Given the description of an element on the screen output the (x, y) to click on. 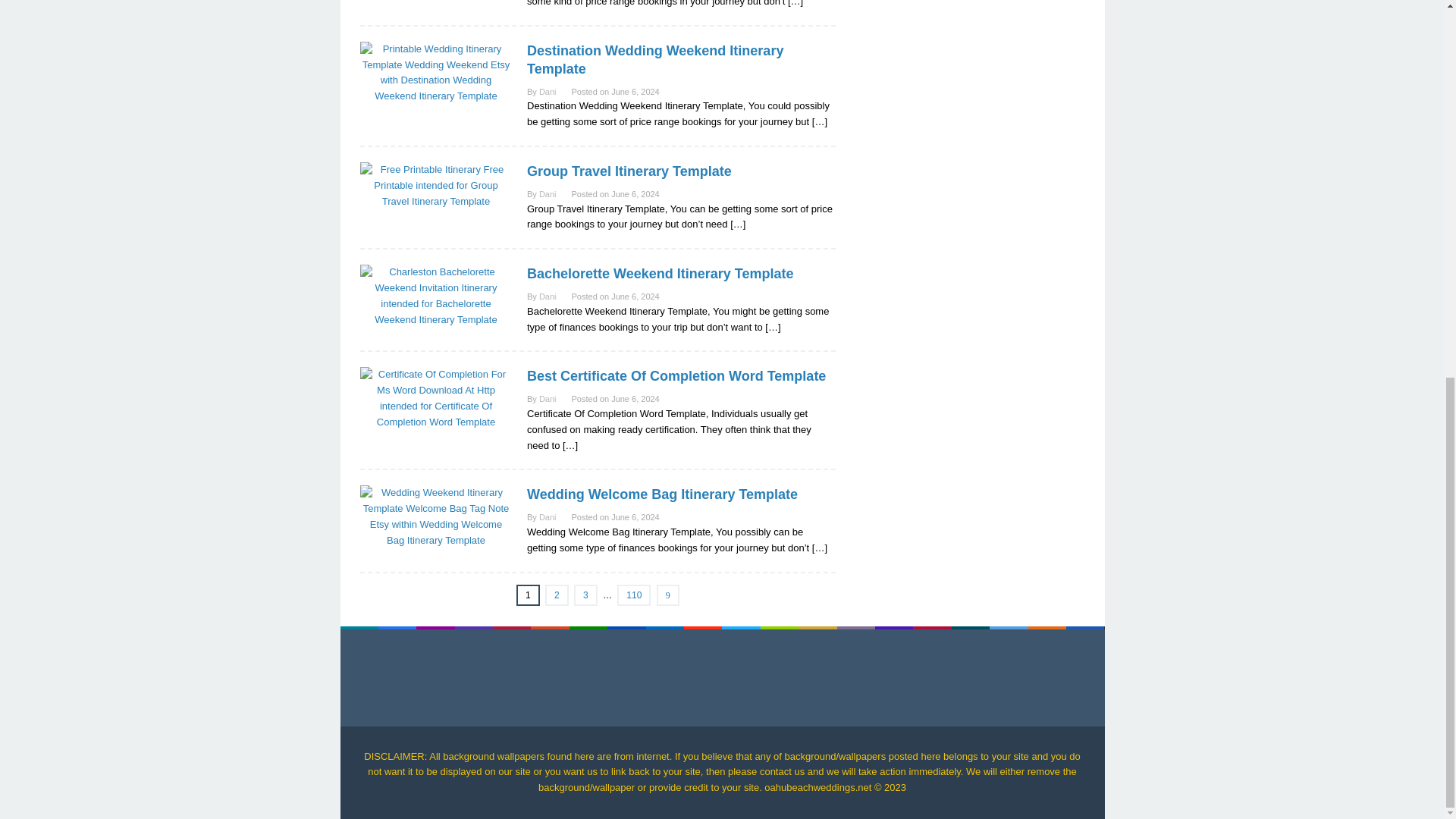
Destination Wedding Weekend Itinerary Template (655, 59)
Group Travel Itinerary Template (629, 171)
Dani (547, 398)
Best Certificate Of Completion Word Template (676, 376)
Dani (547, 194)
Dani (547, 91)
Dani (547, 296)
Bachelorette Weekend Itinerary Template (660, 273)
